Given the description of an element on the screen output the (x, y) to click on. 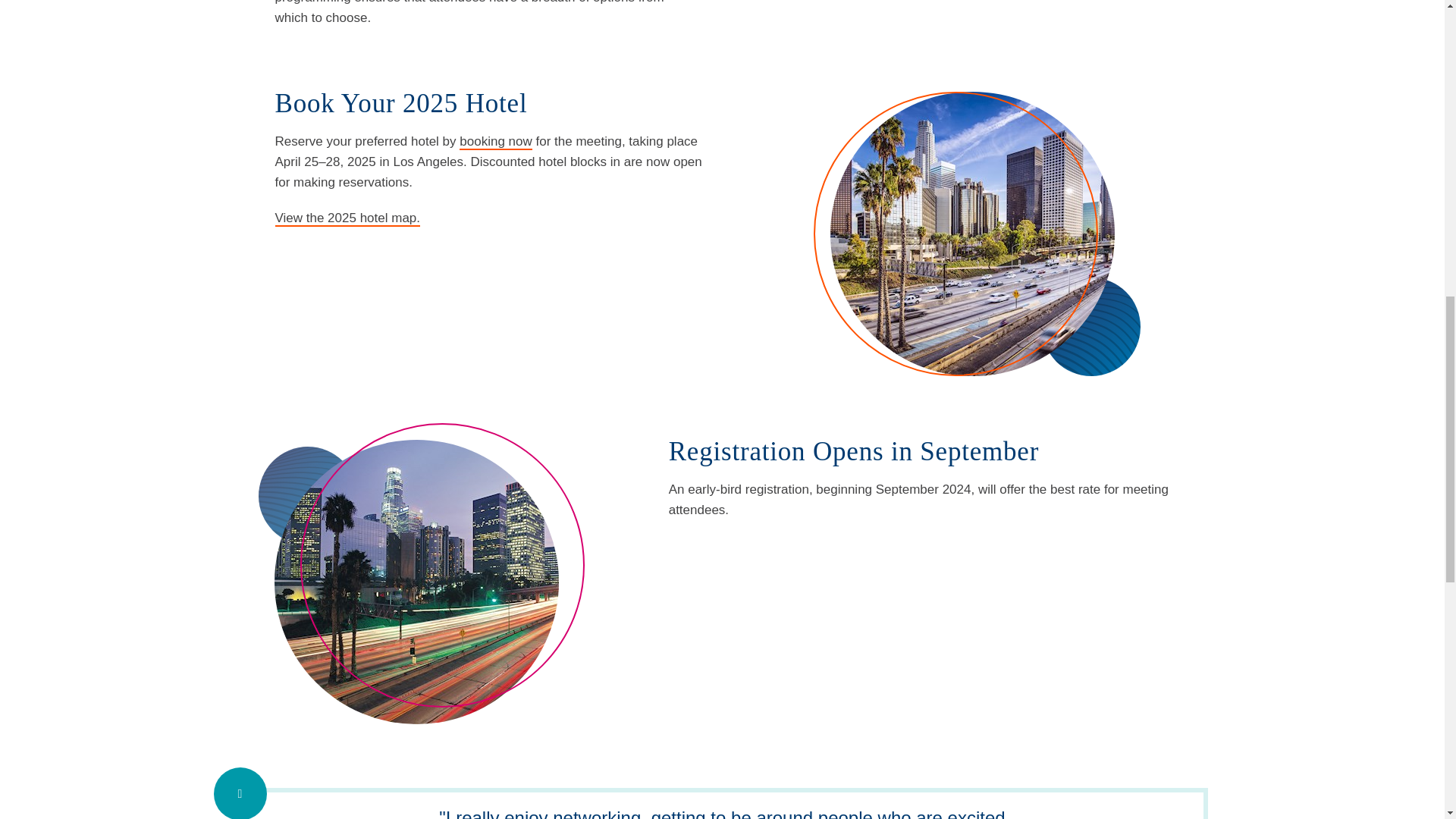
booking now (495, 141)
View the 2025 hotel map. (347, 218)
